Given the description of an element on the screen output the (x, y) to click on. 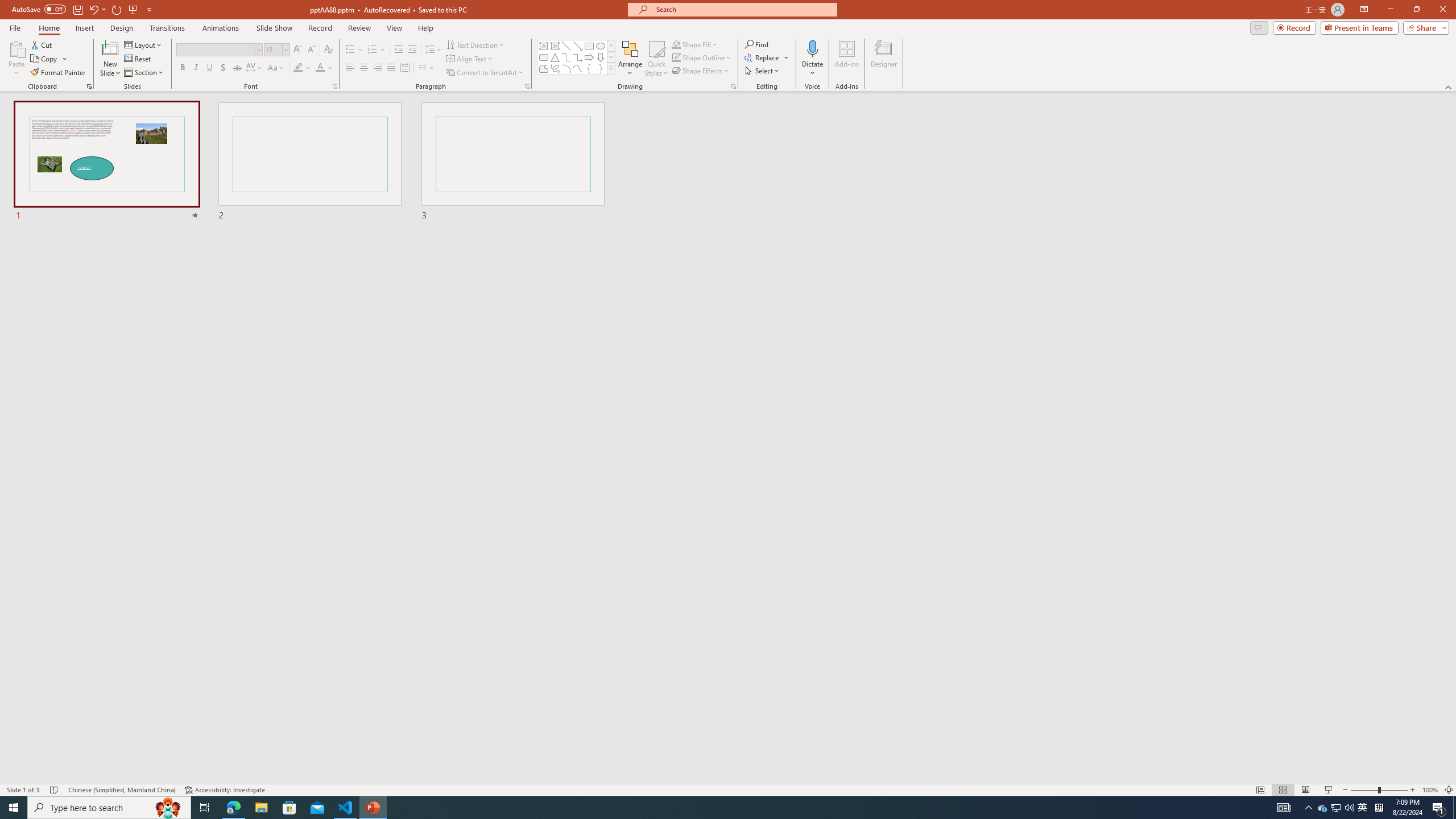
Restore Down (1416, 9)
Copy (45, 58)
Replace... (767, 56)
Numbering (376, 49)
Freeform: Scribble (554, 68)
Zoom (1379, 790)
Font (215, 49)
Cut (42, 44)
Align Left (349, 67)
Bullets (354, 49)
Right Brace (600, 68)
Undo (92, 9)
Paragraph... (526, 85)
Redo (117, 9)
Minimize (1390, 9)
